Given the description of an element on the screen output the (x, y) to click on. 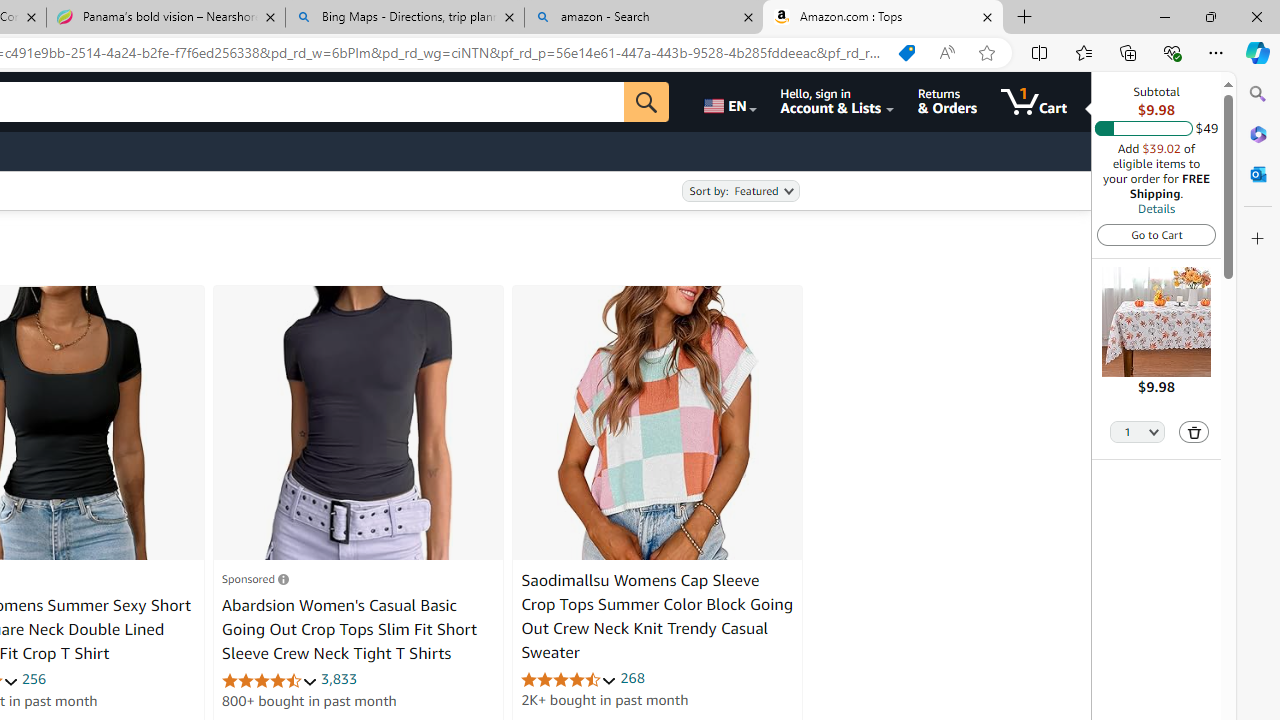
268 (632, 678)
Returns & Orders (946, 101)
4.3 out of 5 stars (269, 680)
amazon - Search (643, 17)
Details (1156, 208)
